Given the description of an element on the screen output the (x, y) to click on. 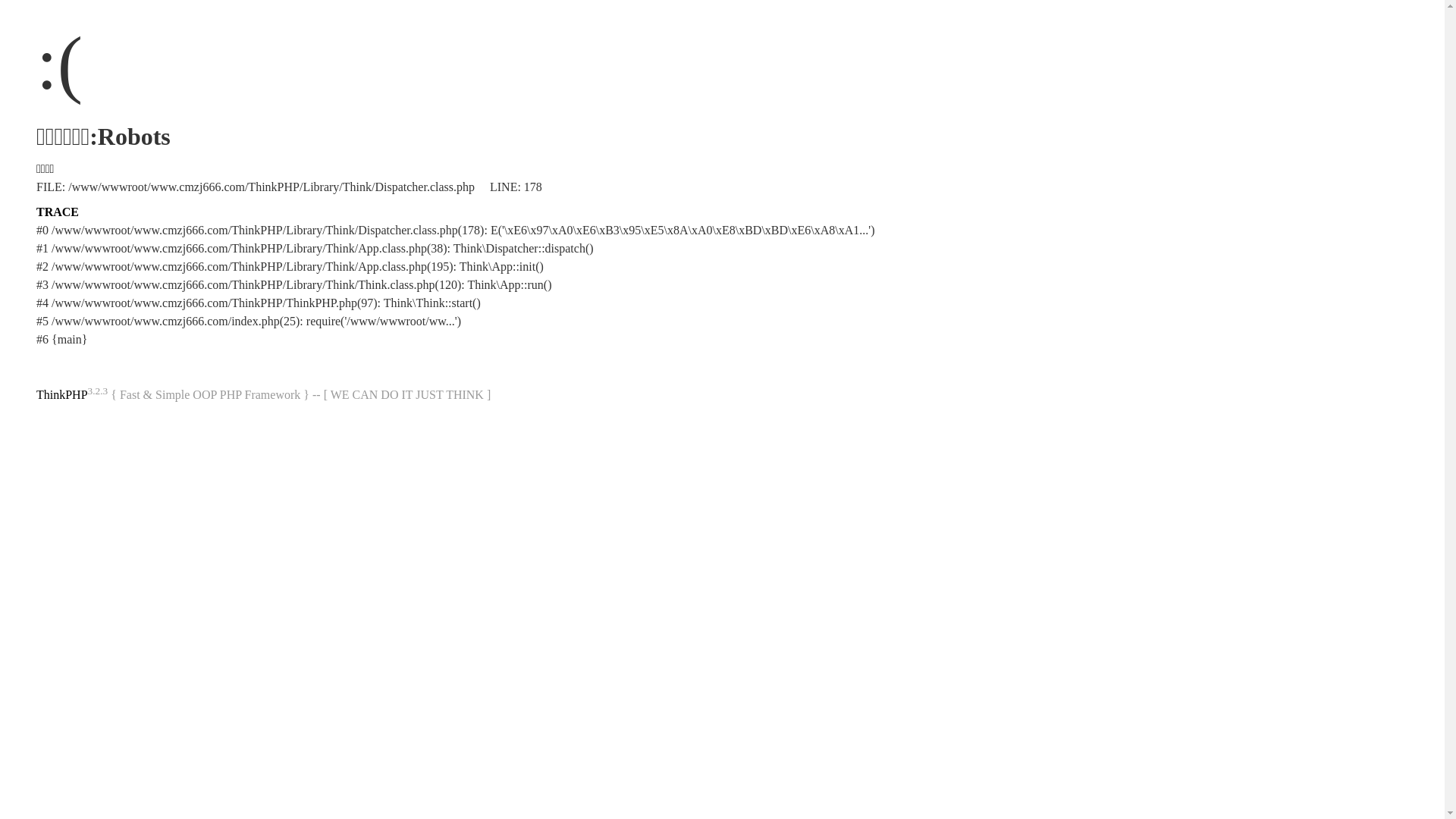
ThinkPHP Element type: text (61, 394)
